Given the description of an element on the screen output the (x, y) to click on. 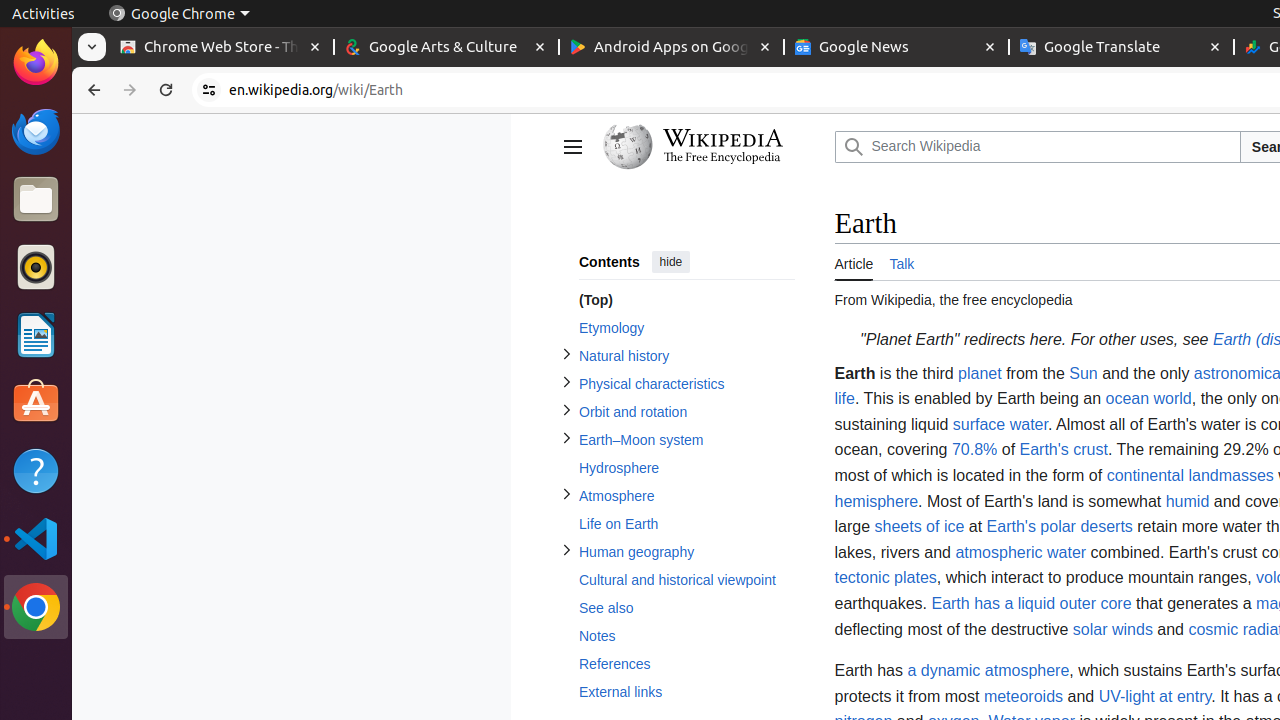
Google News - Memory usage - 55.6 MB Element type: page-tab (896, 47)
Earth–Moon system Element type: link (686, 440)
Atmosphere Element type: link (686, 496)
Toggle Orbit and rotation subsection Element type: push-button (566, 410)
Toggle Natural history subsection Element type: push-button (566, 354)
